Given the description of an element on the screen output the (x, y) to click on. 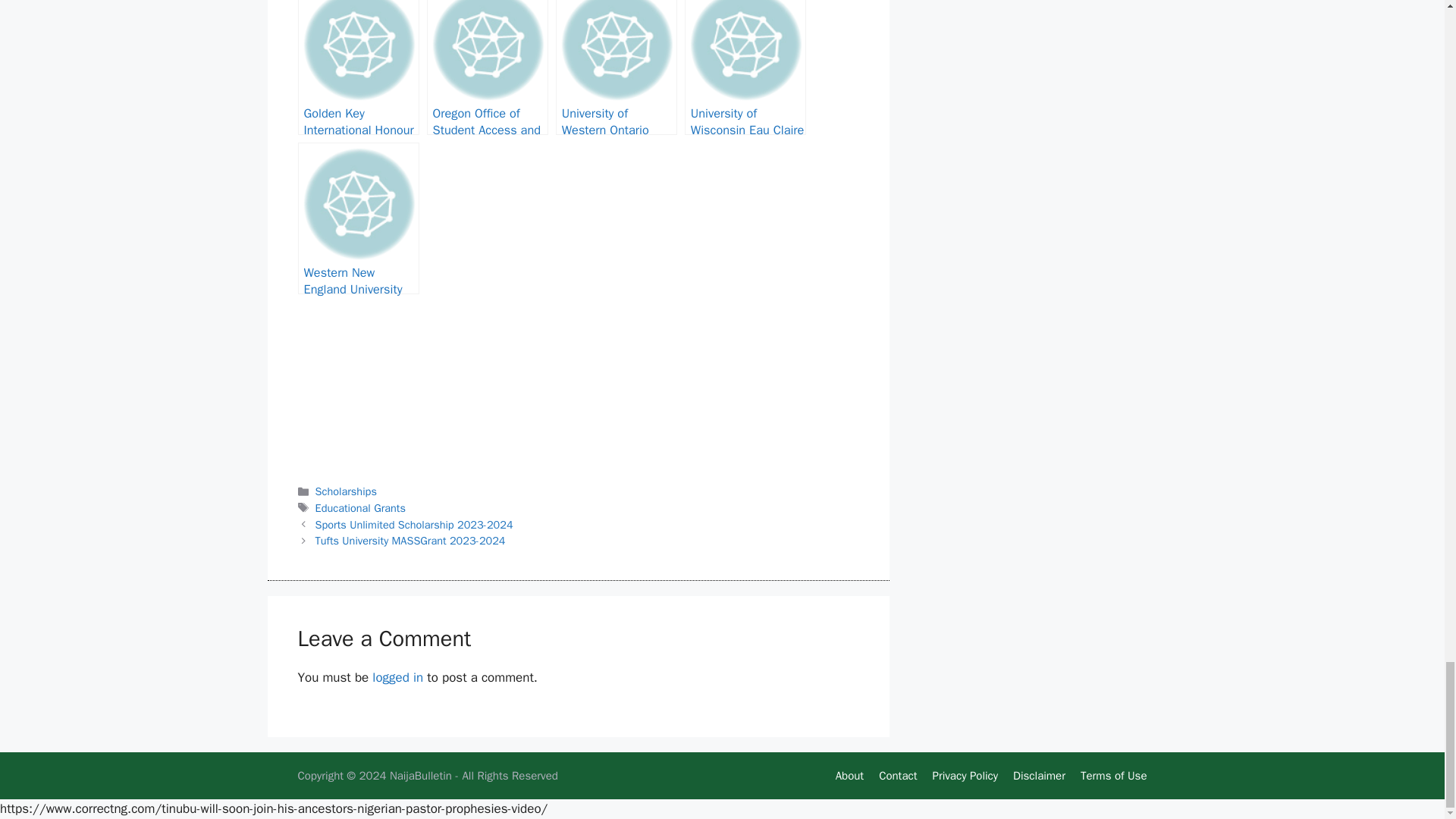
Terms of Use (1113, 775)
Scholarships (346, 490)
About (849, 775)
logged in (397, 677)
Contact (898, 775)
Disclaimer (1039, 775)
Educational Grants (360, 508)
Tufts University MASSGrant 2023-2024 (410, 540)
Sports Unlimited Scholarship 2023-2024 (414, 524)
Privacy Policy (964, 775)
